Given the description of an element on the screen output the (x, y) to click on. 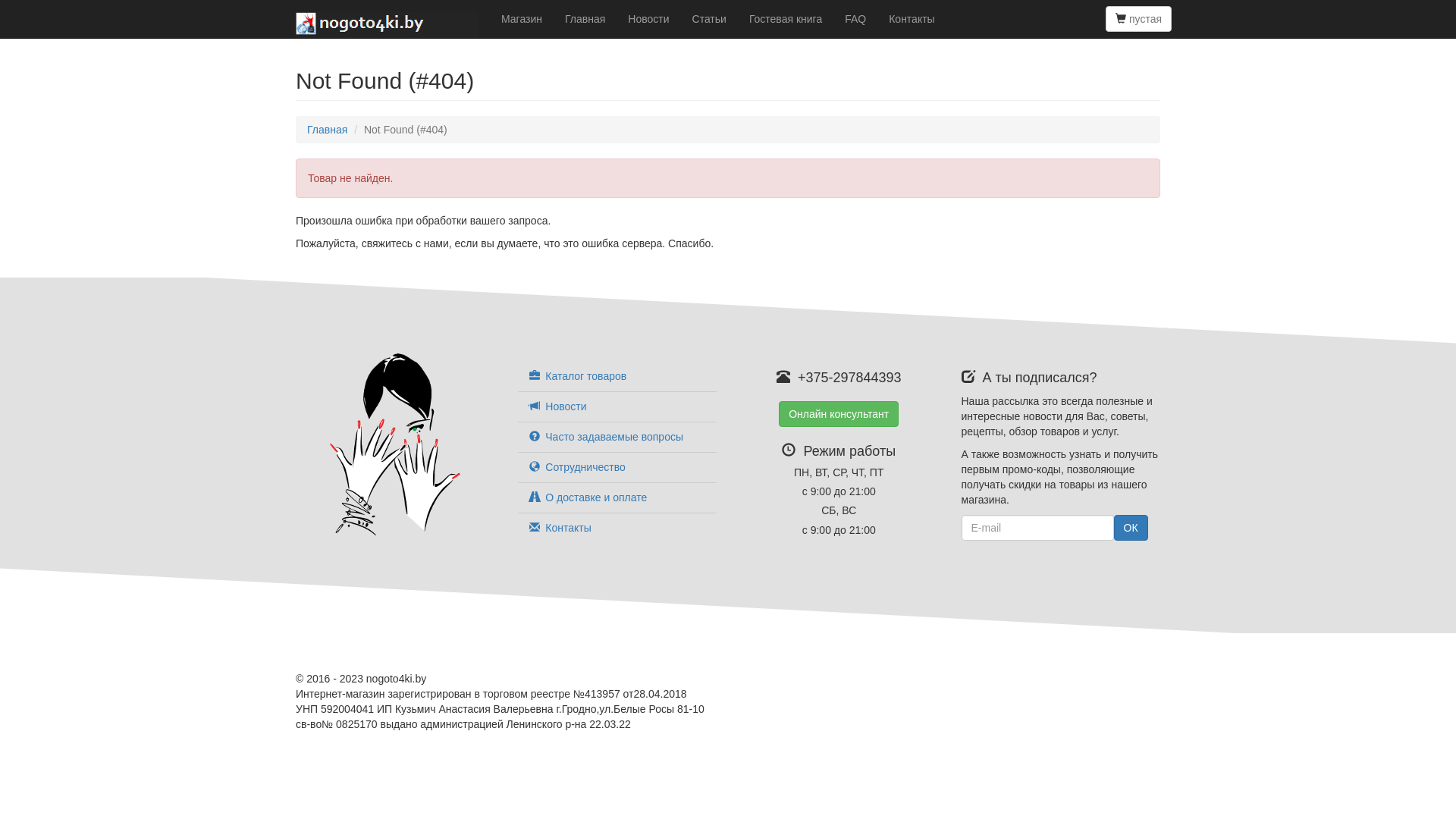
FAQ Element type: text (855, 18)
